Given the description of an element on the screen output the (x, y) to click on. 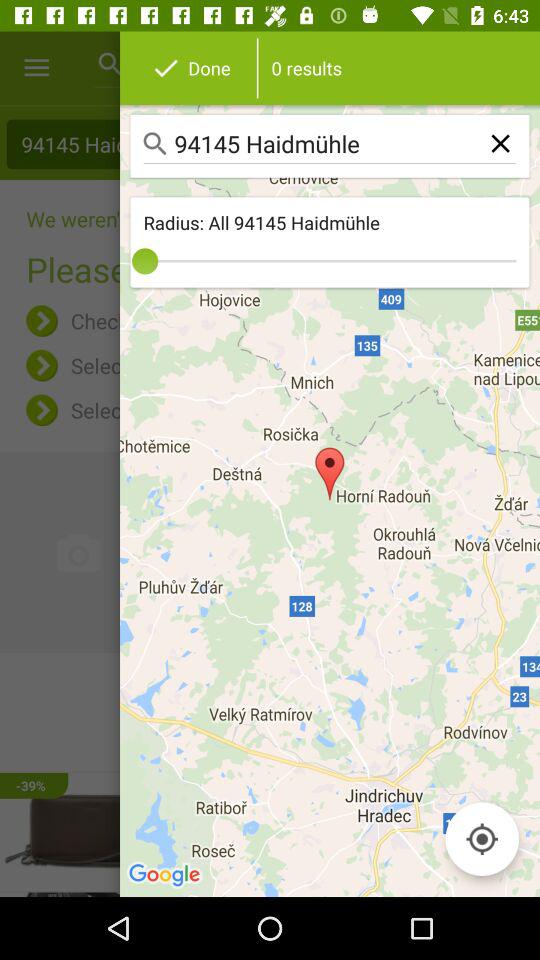
click on the search bar (330, 146)
click on the velky ratmirov in the map (269, 711)
